Given the description of an element on the screen output the (x, y) to click on. 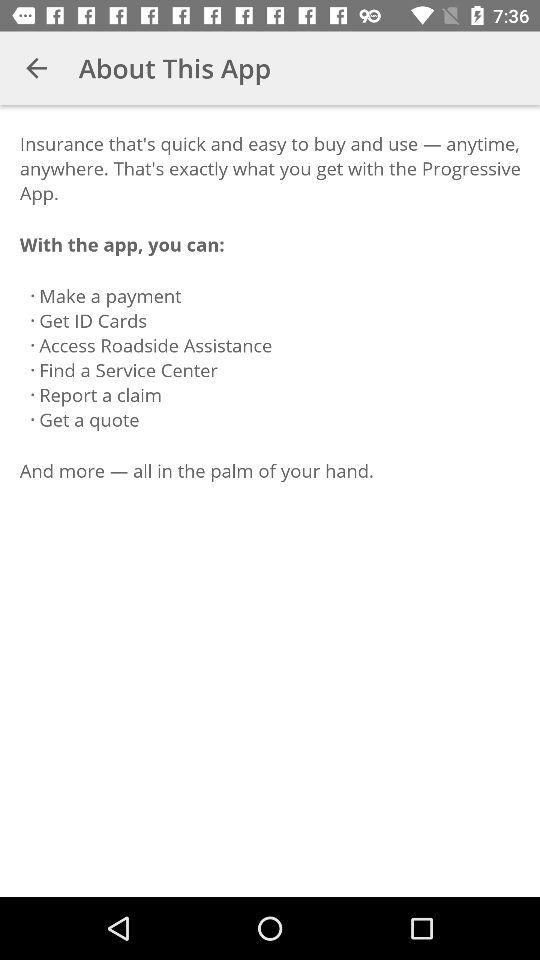
choose the app next to about this app (36, 68)
